Given the description of an element on the screen output the (x, y) to click on. 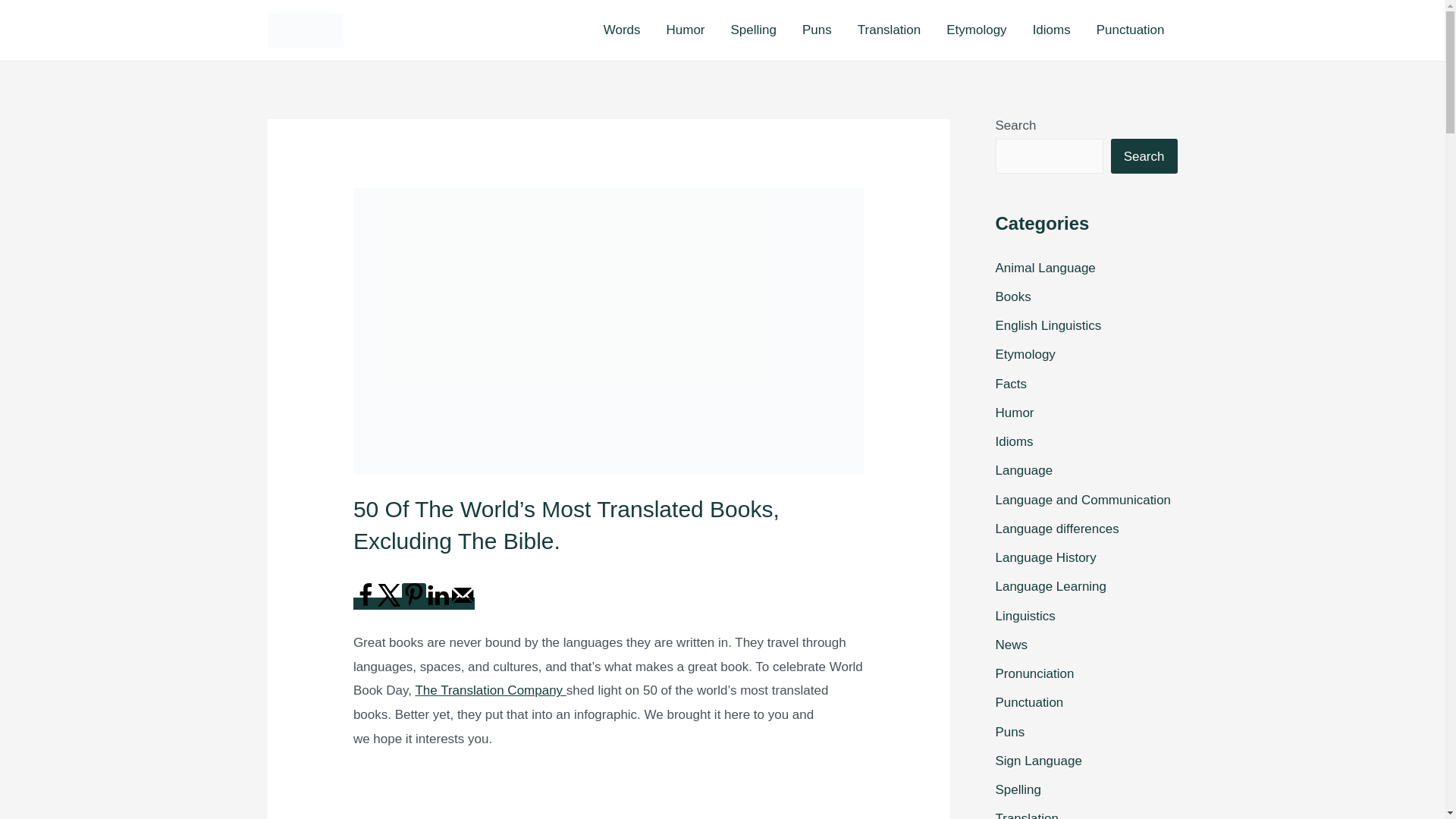
Words (622, 30)
Humor (685, 30)
Translation (888, 30)
Punctuation (1130, 30)
Idioms (1051, 30)
The Translation Company  (490, 690)
Spelling (753, 30)
Share on LinkedIn (437, 603)
Etymology (976, 30)
Save to Pinterest (413, 596)
